Given the description of an element on the screen output the (x, y) to click on. 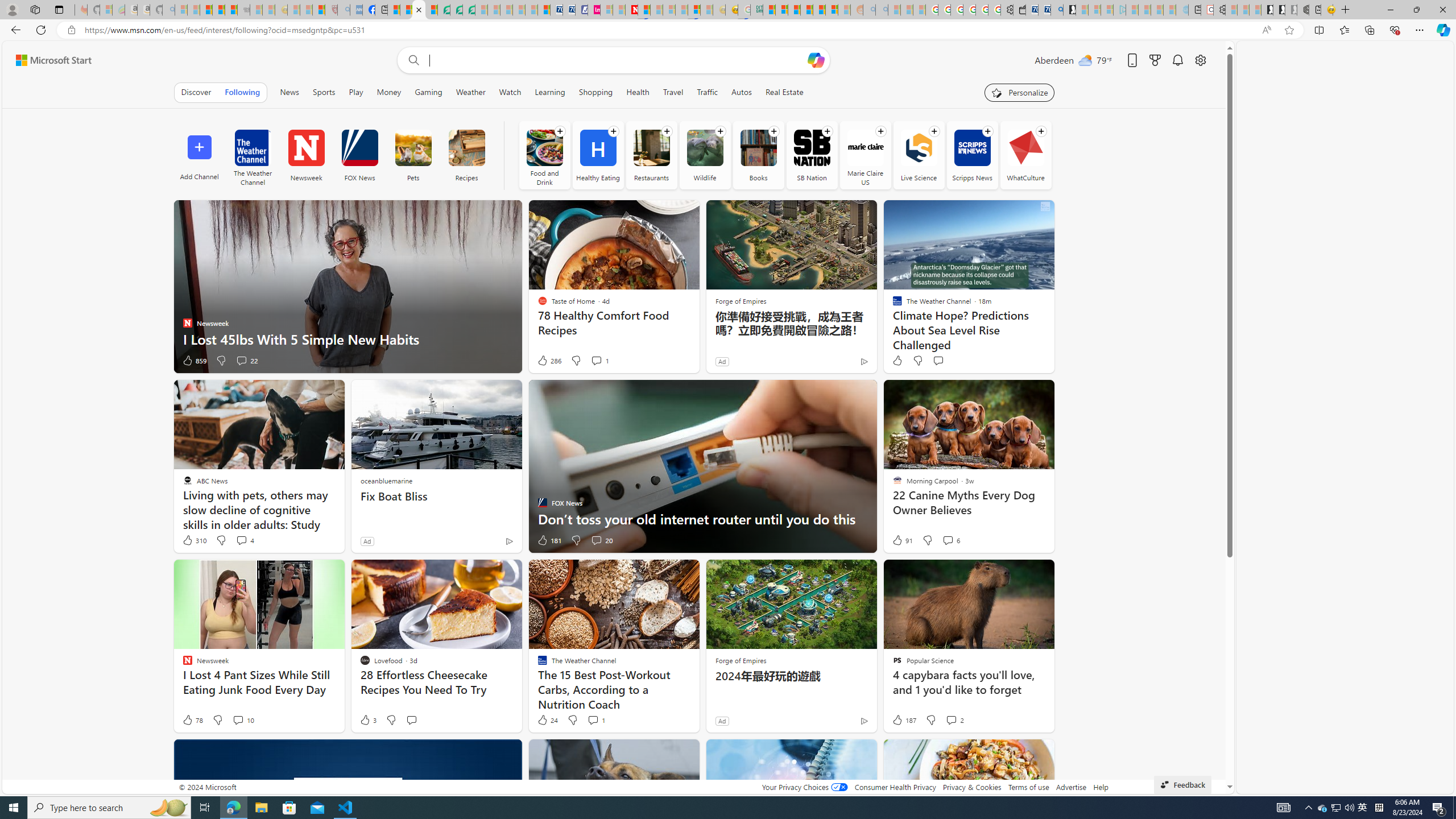
Pets (412, 147)
oceanbluemarine (385, 479)
